Given the description of an element on the screen output the (x, y) to click on. 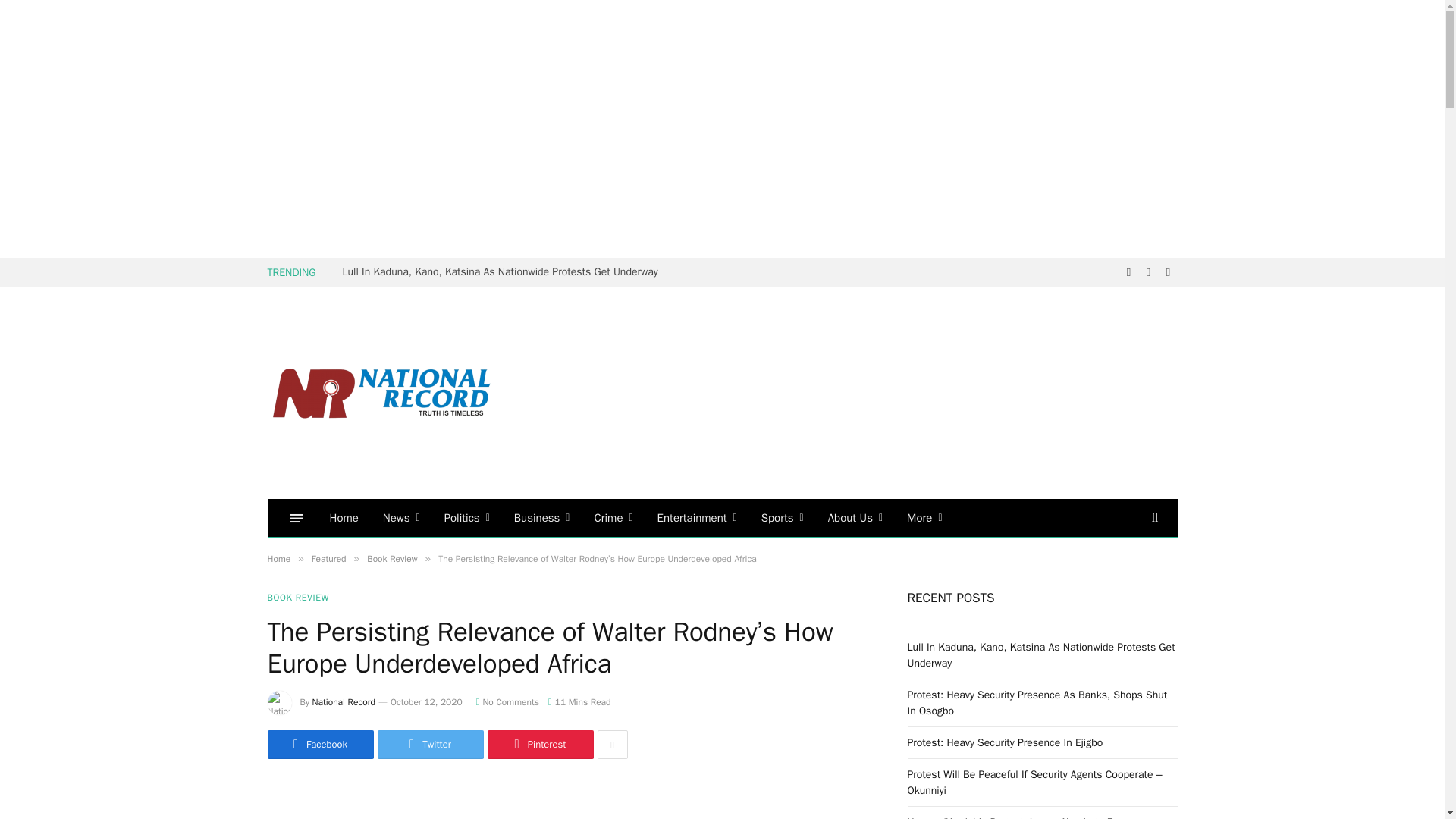
Advertisement (900, 392)
National Record (380, 392)
